Given the description of an element on the screen output the (x, y) to click on. 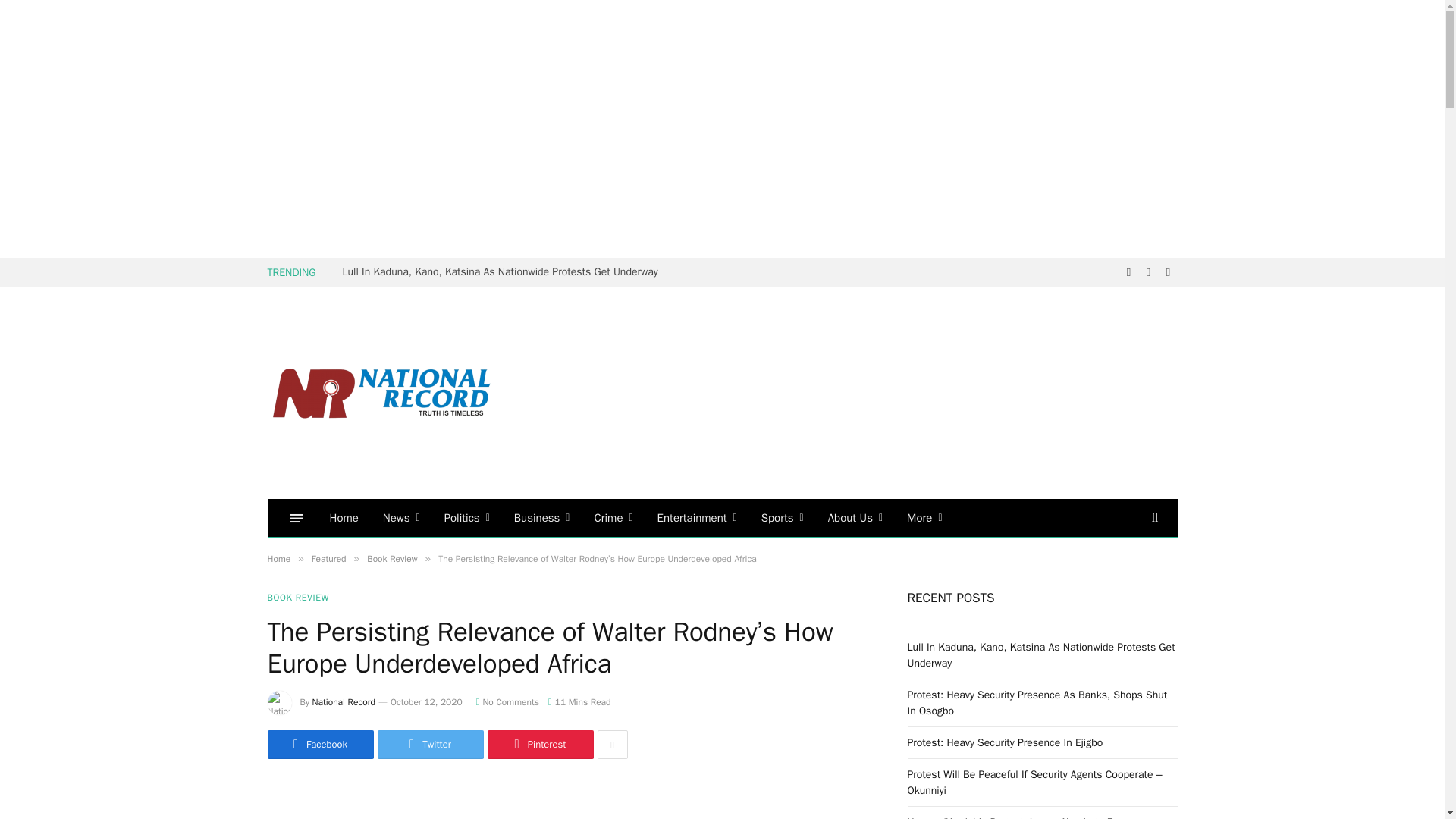
Advertisement (900, 392)
National Record (380, 392)
